Given the description of an element on the screen output the (x, y) to click on. 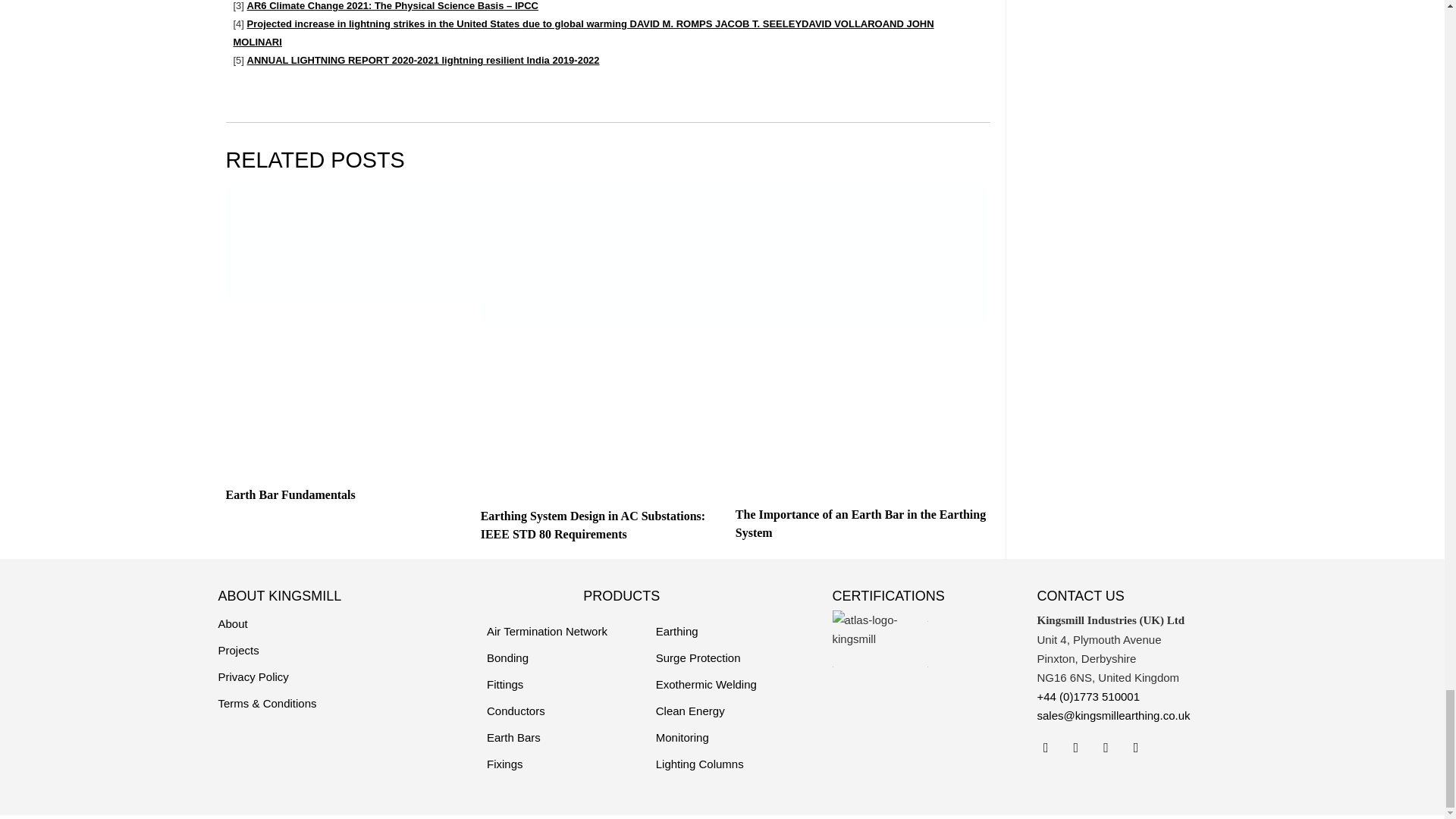
atlas-logo-kingsmill (879, 629)
